Given the description of an element on the screen output the (x, y) to click on. 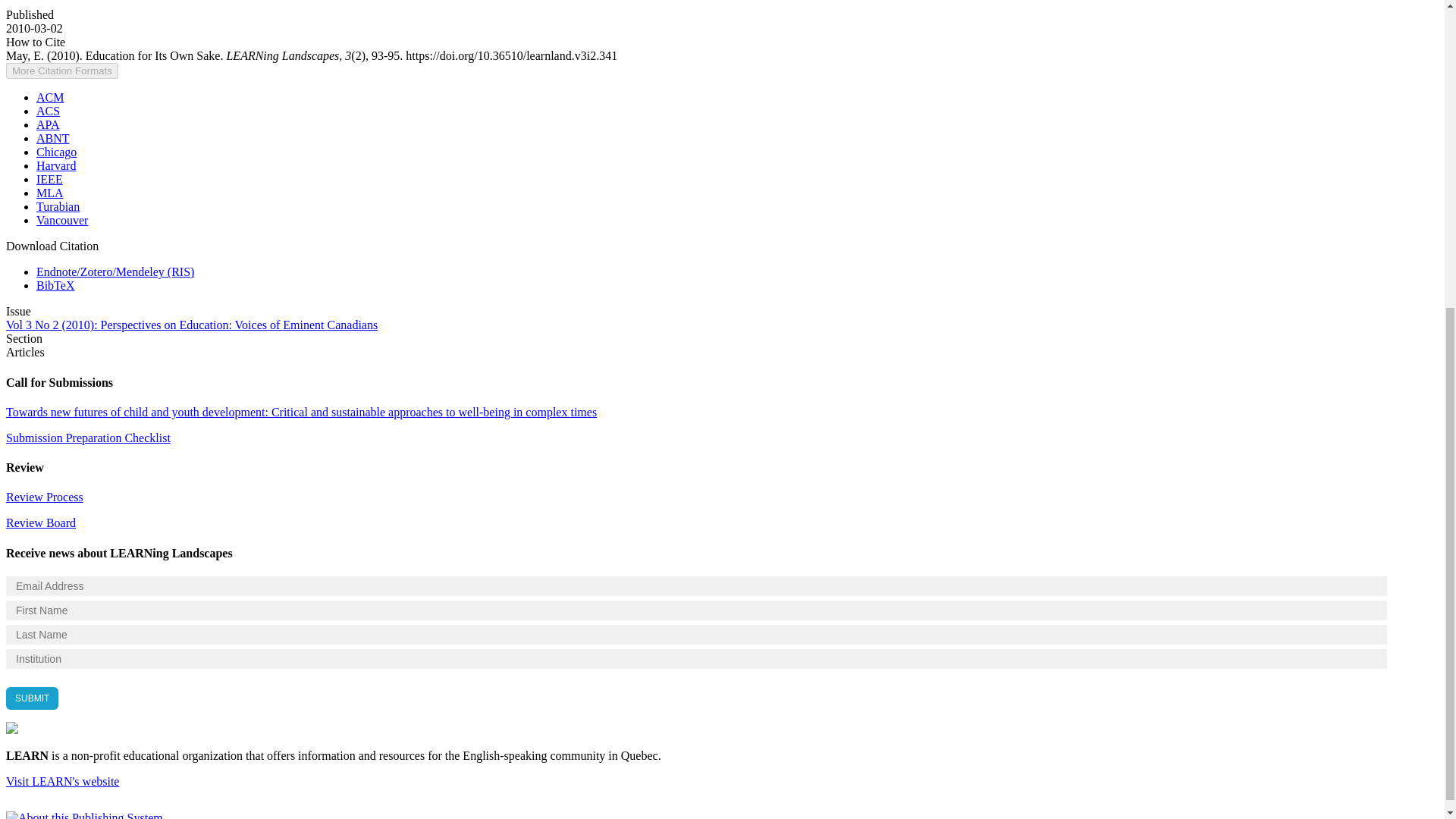
ACM (50, 97)
Vancouver (61, 219)
MLA (50, 192)
Review Process (43, 496)
ABNT (52, 137)
IEEE (49, 178)
Submission Preparation Checklist (87, 437)
submit (31, 698)
Turabian (58, 205)
More Citation Formats (61, 70)
Review Board (40, 522)
ACS (47, 110)
Visit LEARN's website (62, 780)
submit (31, 698)
